Given the description of an element on the screen output the (x, y) to click on. 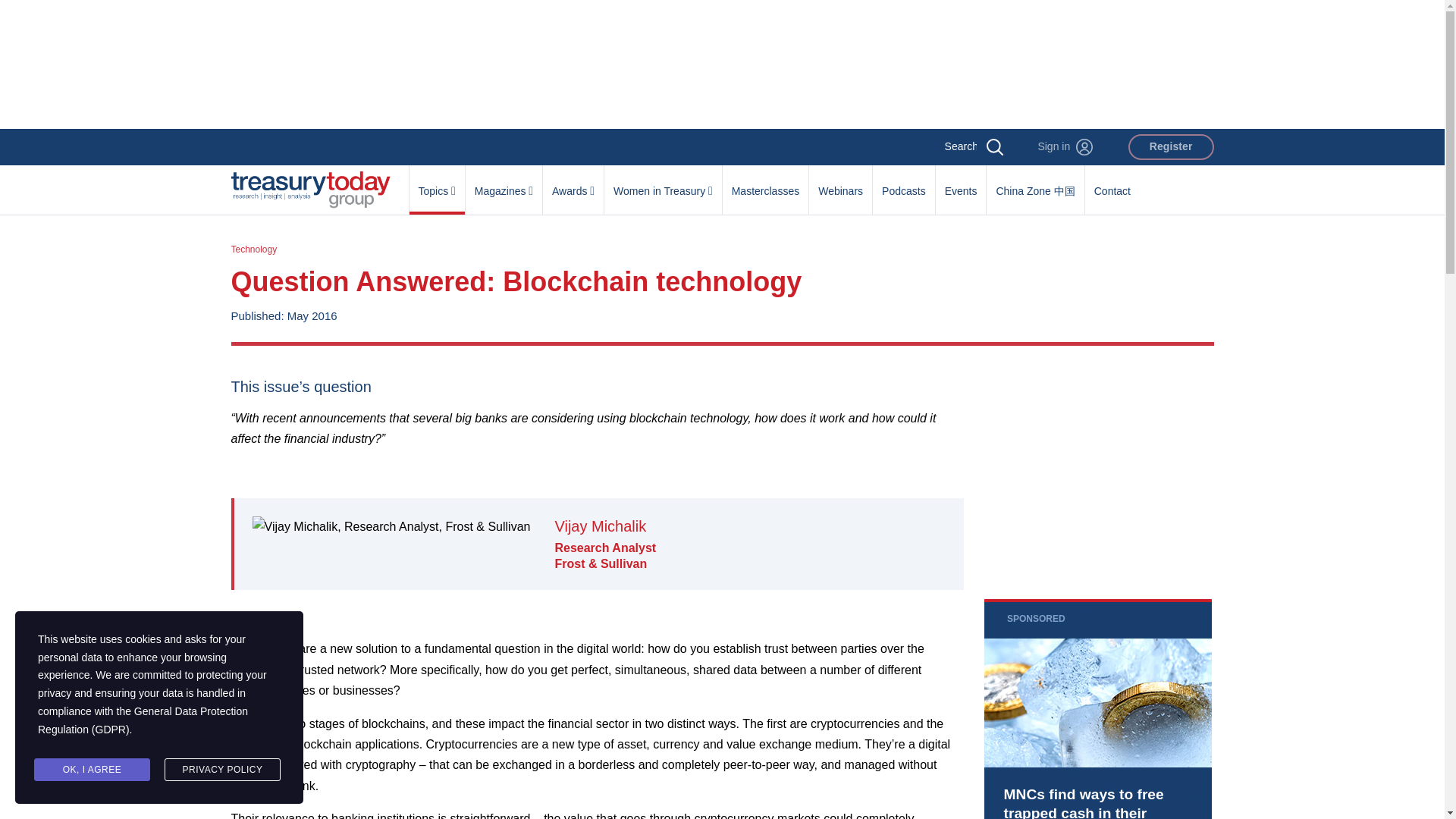
Women in Treasury  (663, 182)
Awards  (573, 182)
3rd party ad content (1097, 708)
Register (1171, 146)
3rd party ad content (1097, 471)
Magazines  (503, 182)
Sign in (1064, 146)
Topics  (436, 182)
3rd party ad content (721, 63)
Masterclasses (765, 182)
Webinars (840, 182)
